Given the description of an element on the screen output the (x, y) to click on. 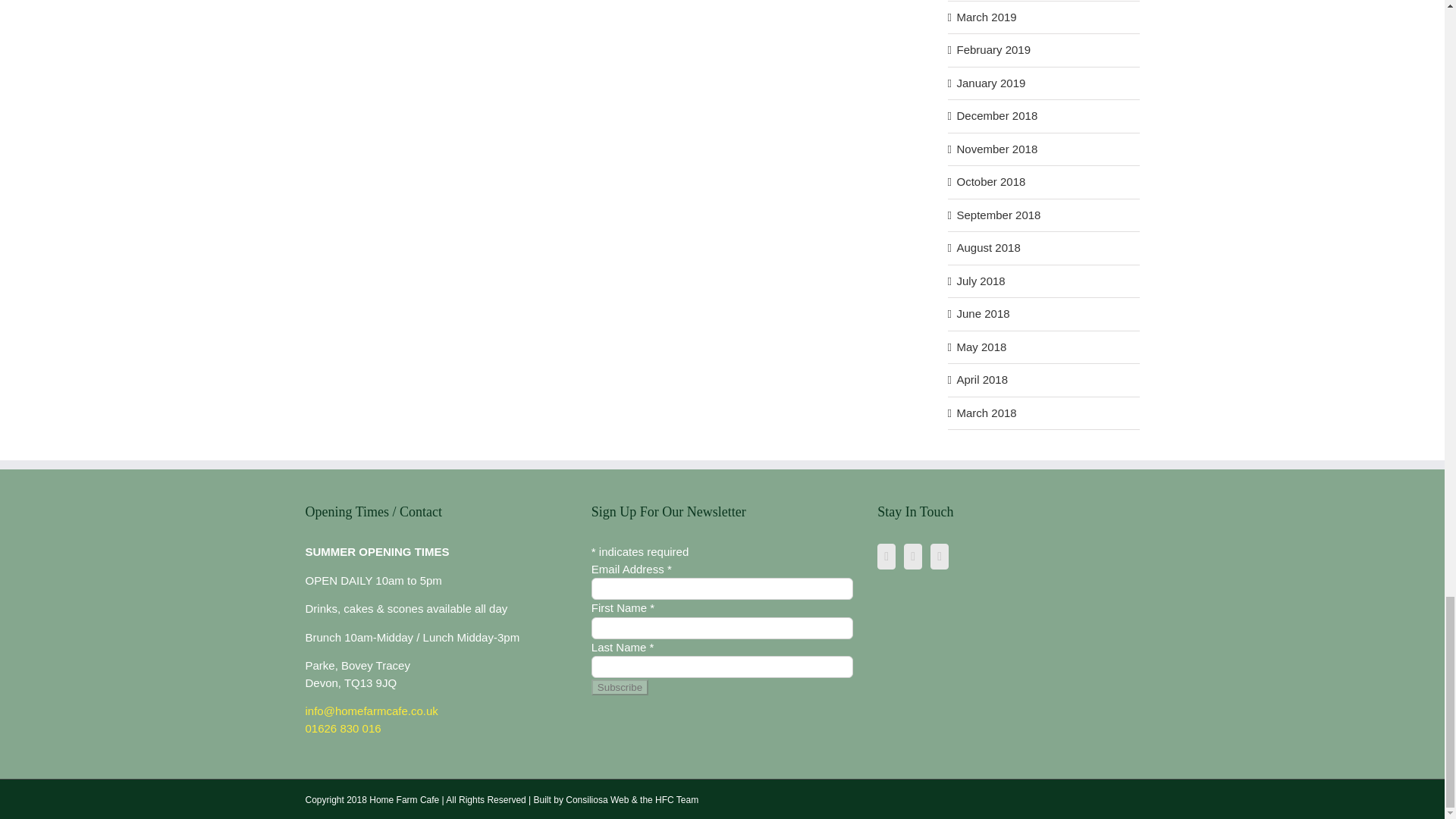
Subscribe (619, 687)
